Given the description of an element on the screen output the (x, y) to click on. 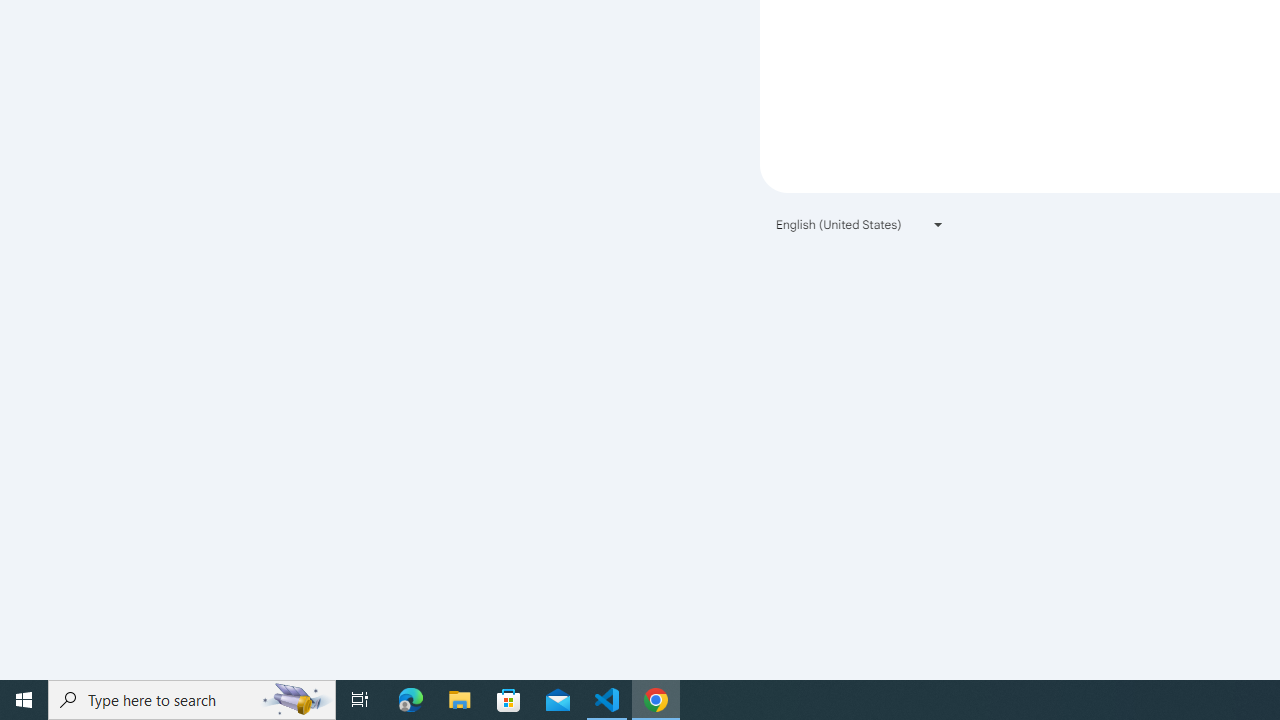
English (United States) (860, 224)
